Given the description of an element on the screen output the (x, y) to click on. 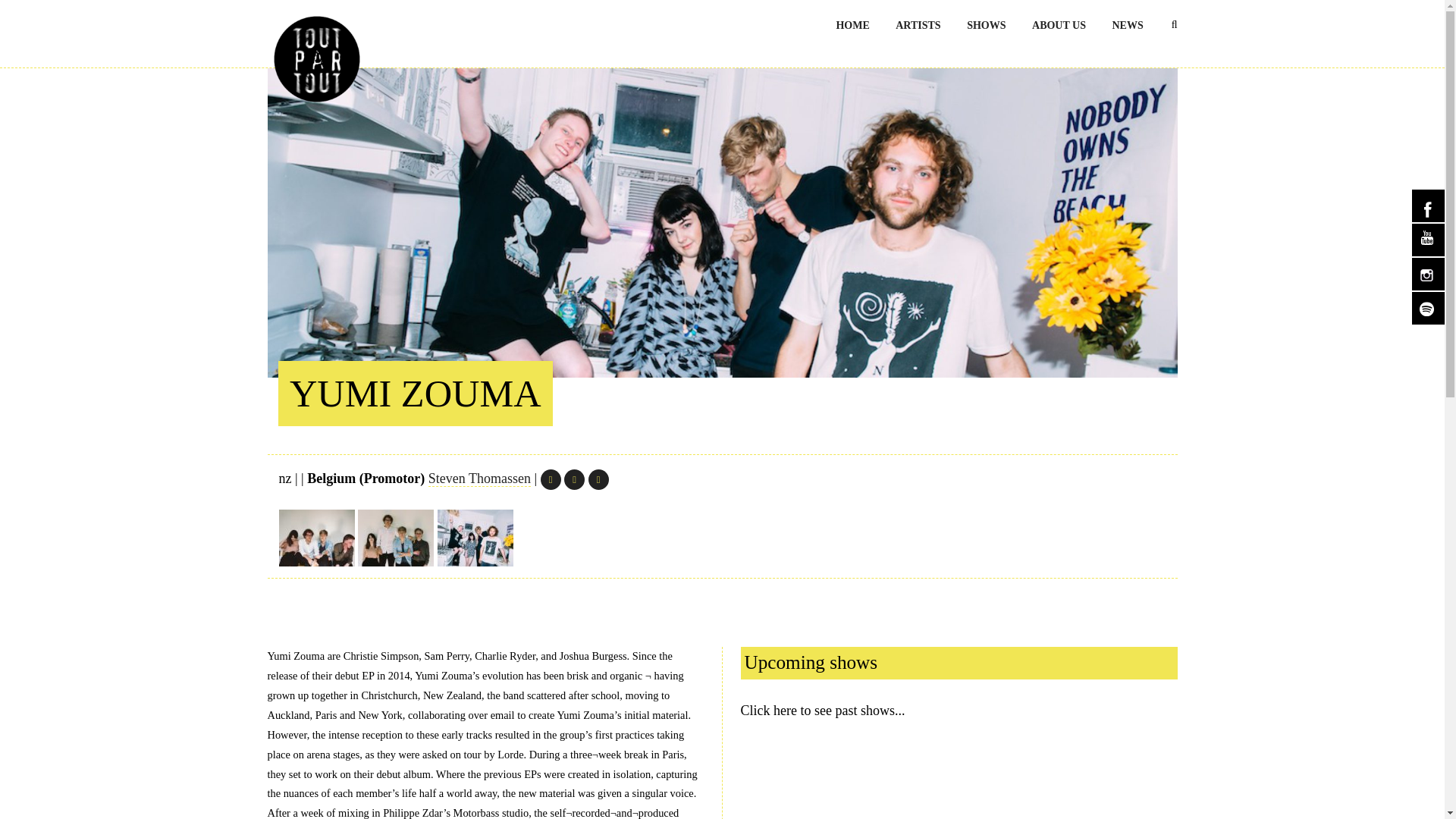
HOME (852, 23)
NEWS (1127, 23)
ARTISTS (917, 23)
SHOWS (985, 23)
ABOUT US (1058, 23)
Steven Thomassen (479, 478)
